Given the description of an element on the screen output the (x, y) to click on. 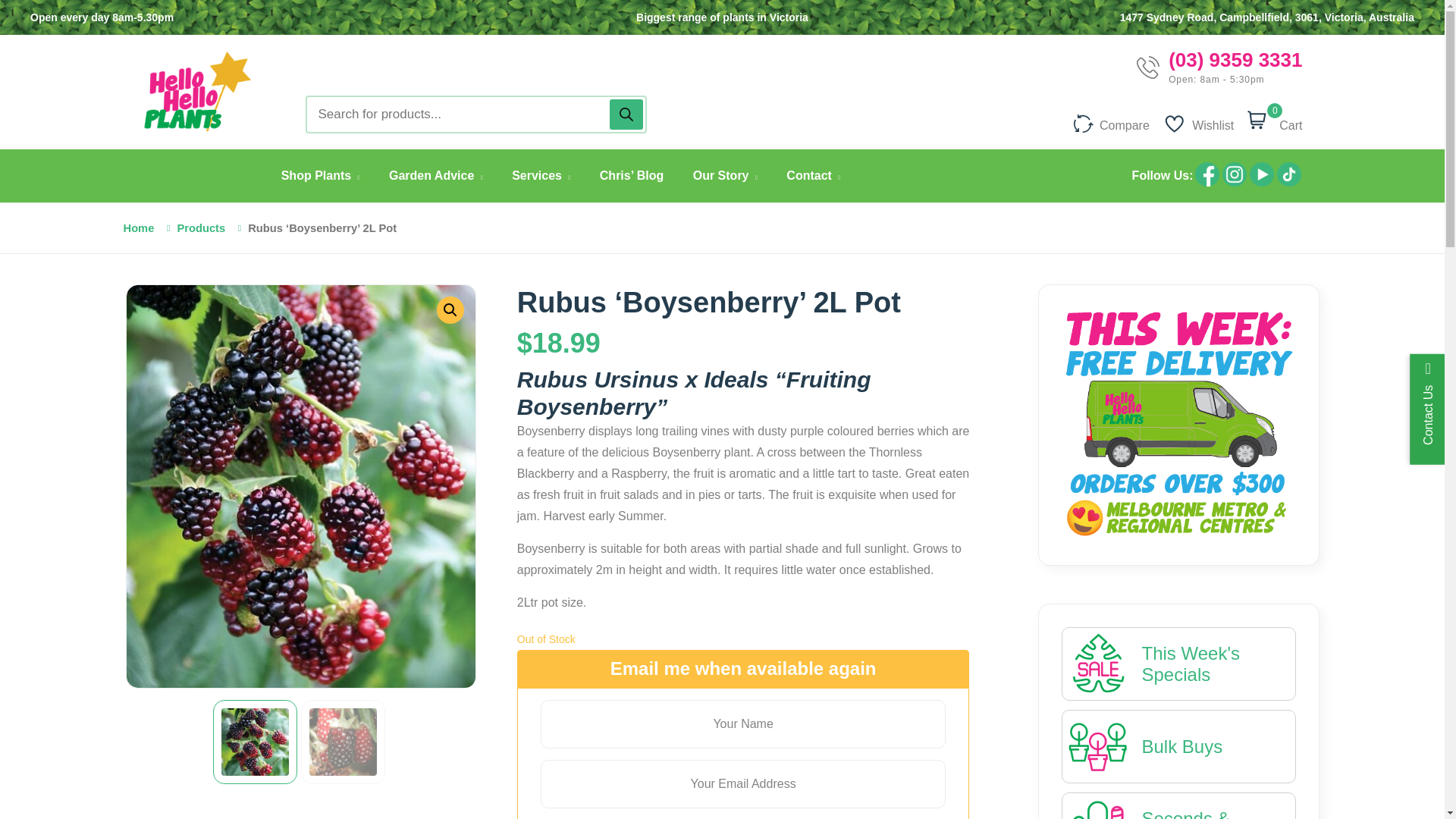
instagram (1234, 183)
instagram (1234, 174)
Shop Plants (320, 175)
youtube (1261, 174)
0 (1260, 120)
facebook (1207, 183)
Wishlist (1198, 121)
Cart (1287, 121)
youtube (1261, 183)
Compare (1112, 121)
facebook (1207, 174)
tiktock (1288, 174)
Rubs Fruiting Boysenberry (650, 401)
tiktock (1289, 183)
